Given the description of an element on the screen output the (x, y) to click on. 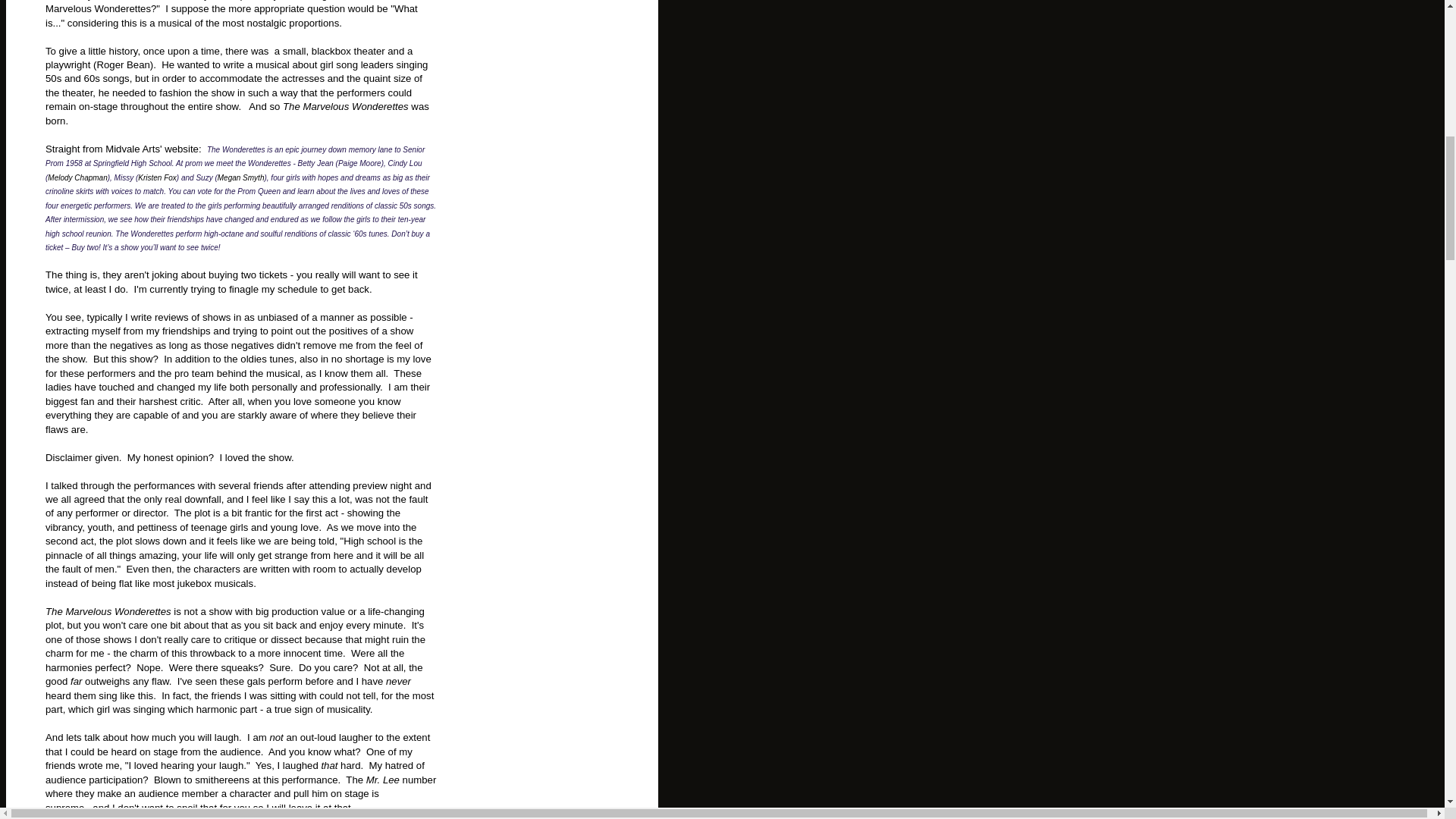
The Marvelous Wonderettes (345, 106)
Midvale Arts' website (151, 148)
Megan Smyth (240, 177)
Melody Chapman (77, 177)
Roger Bean (122, 64)
Kristen Fox (157, 177)
